Given the description of an element on the screen output the (x, y) to click on. 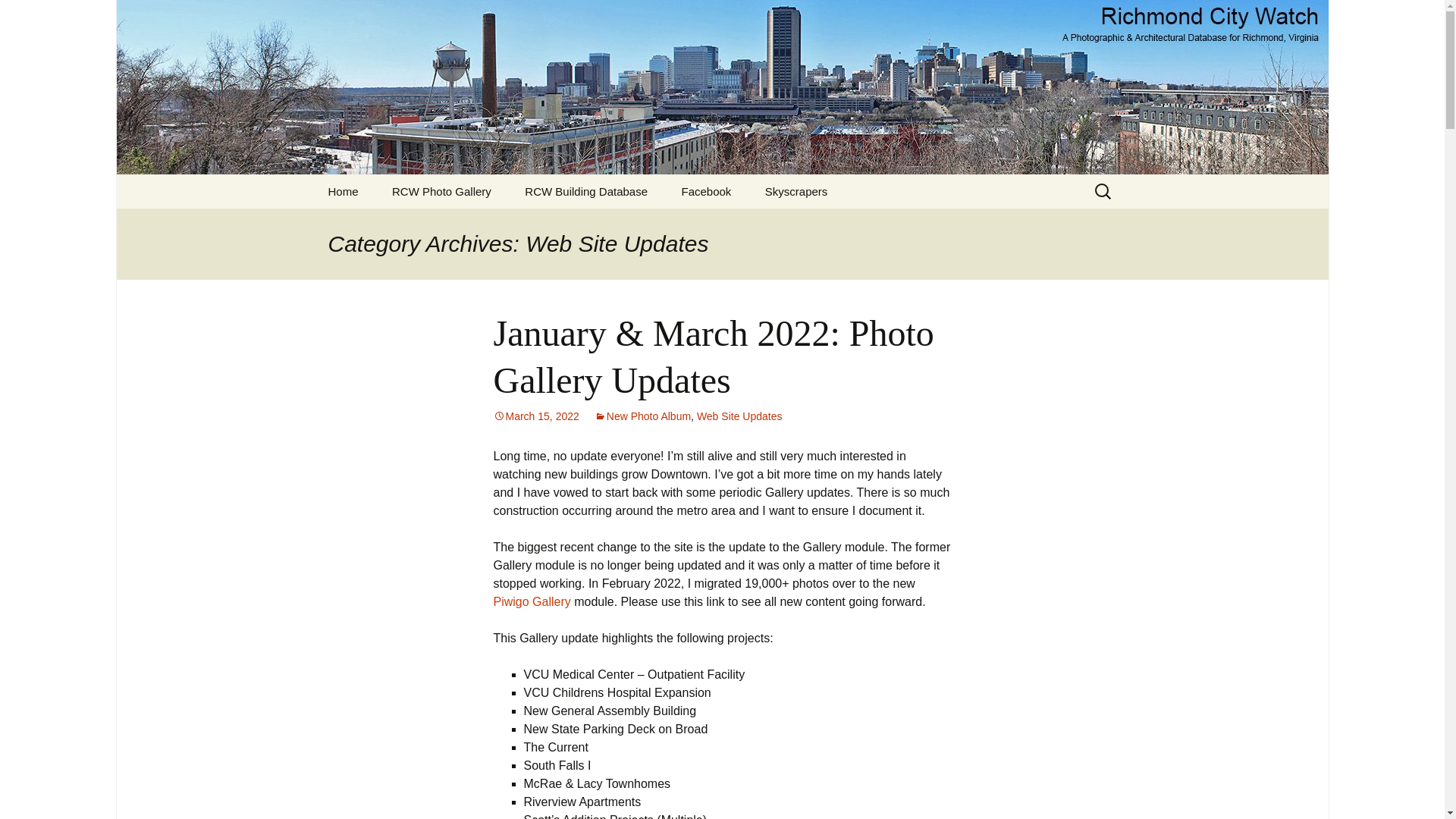
Web Site Updates (740, 416)
RCW Building Database (585, 191)
Piwigo Gallery (531, 601)
Search (18, 15)
Facebook (705, 191)
RCW Building Database (585, 191)
New Photo Album (642, 416)
Skyscrapers (796, 191)
RCW Photo Gallery (441, 191)
March 15, 2022 (535, 416)
Table of Contents (796, 191)
RCW Photo Gallery (441, 191)
